Given the description of an element on the screen output the (x, y) to click on. 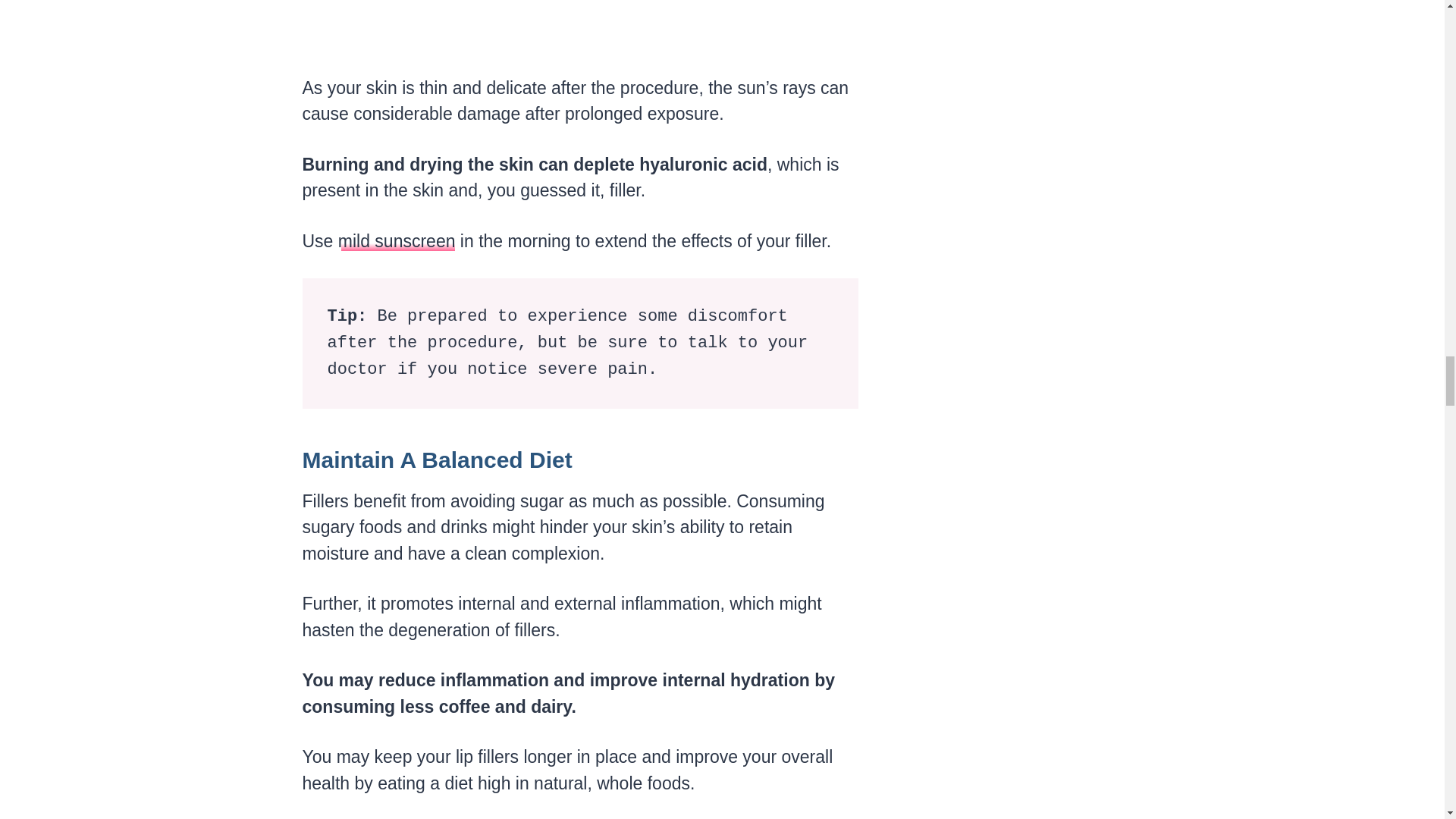
mild sunscreen (396, 240)
How to Make Lip Fillers Last Longer with Ease? 5 (578, 25)
